Given the description of an element on the screen output the (x, y) to click on. 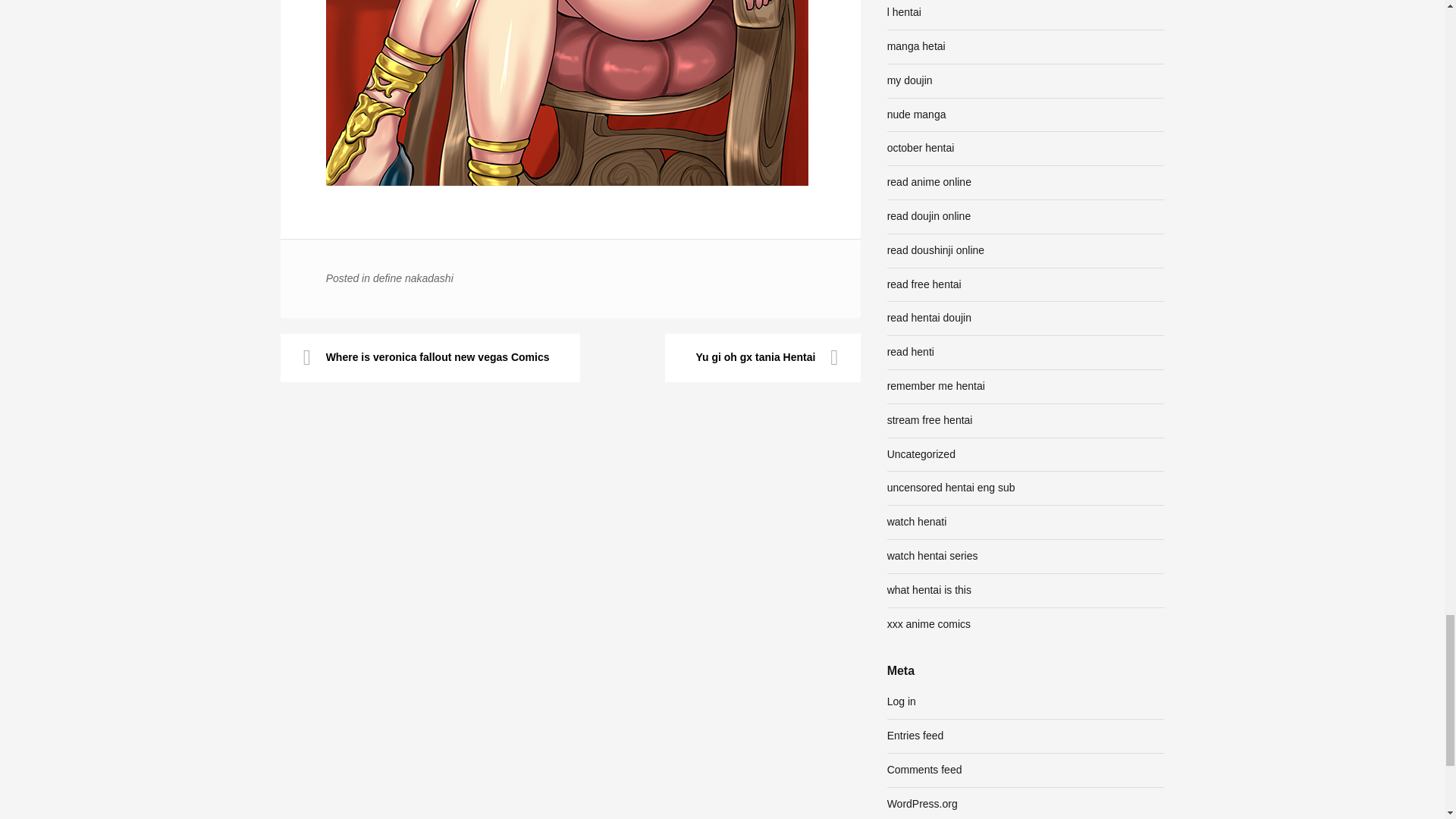
Where is veronica fallout new vegas Comics (430, 357)
Yu gi oh gx tania Hentai (762, 357)
define nakadashi (412, 277)
